Given the description of an element on the screen output the (x, y) to click on. 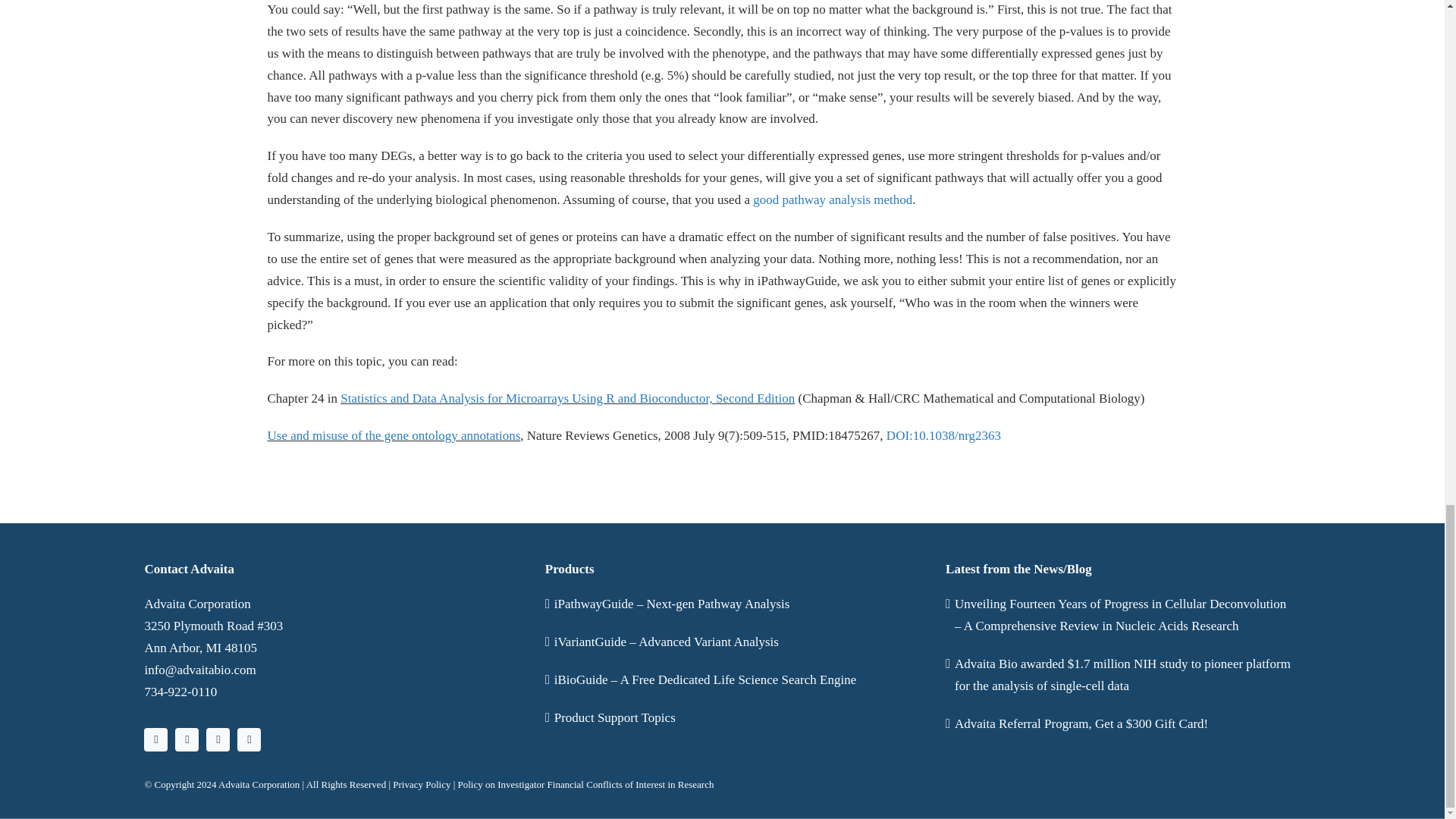
X (155, 739)
YouTube (218, 739)
Facebook (248, 739)
LinkedIn (186, 739)
